Given the description of an element on the screen output the (x, y) to click on. 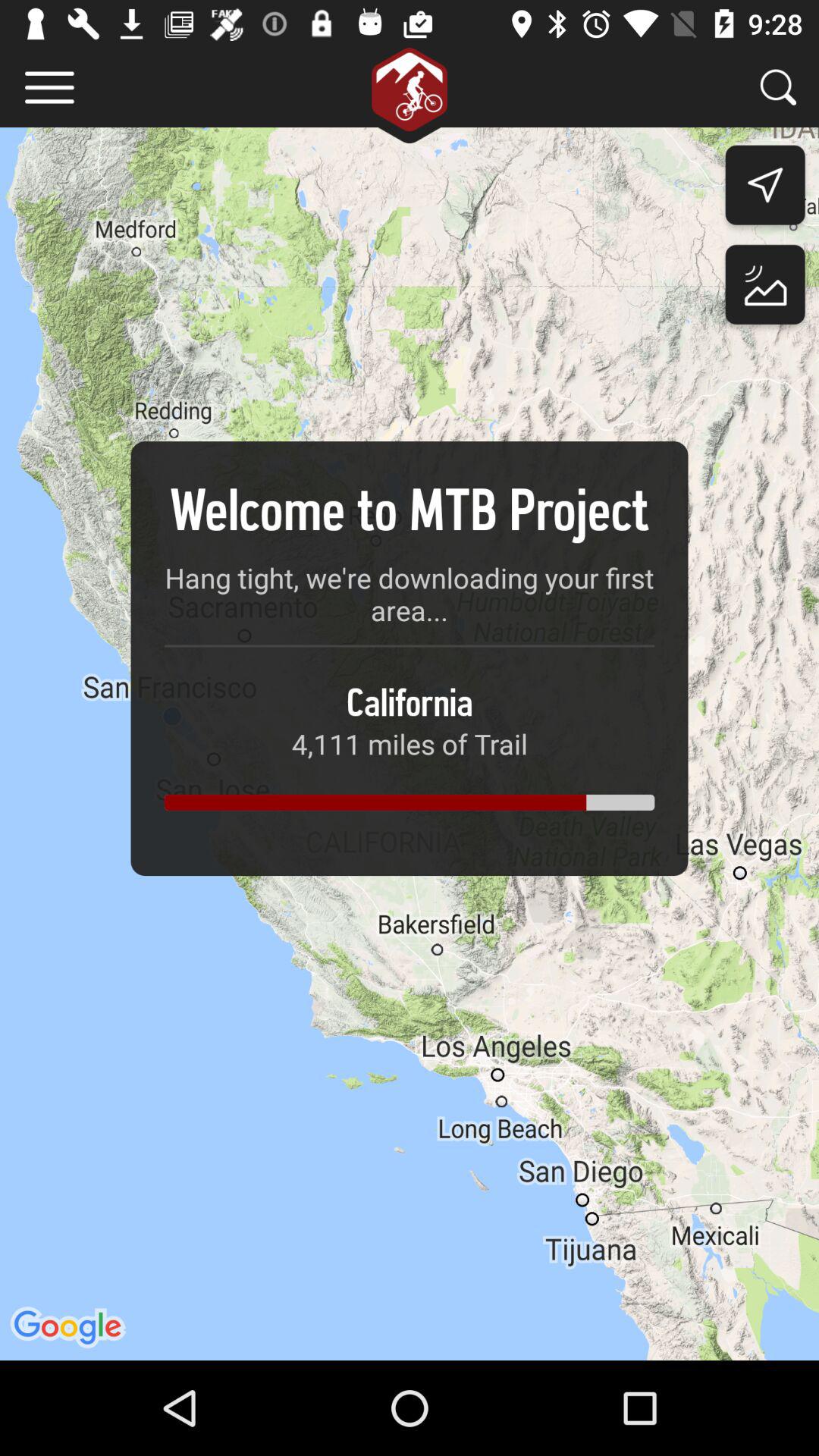
search for trails (778, 87)
